Given the description of an element on the screen output the (x, y) to click on. 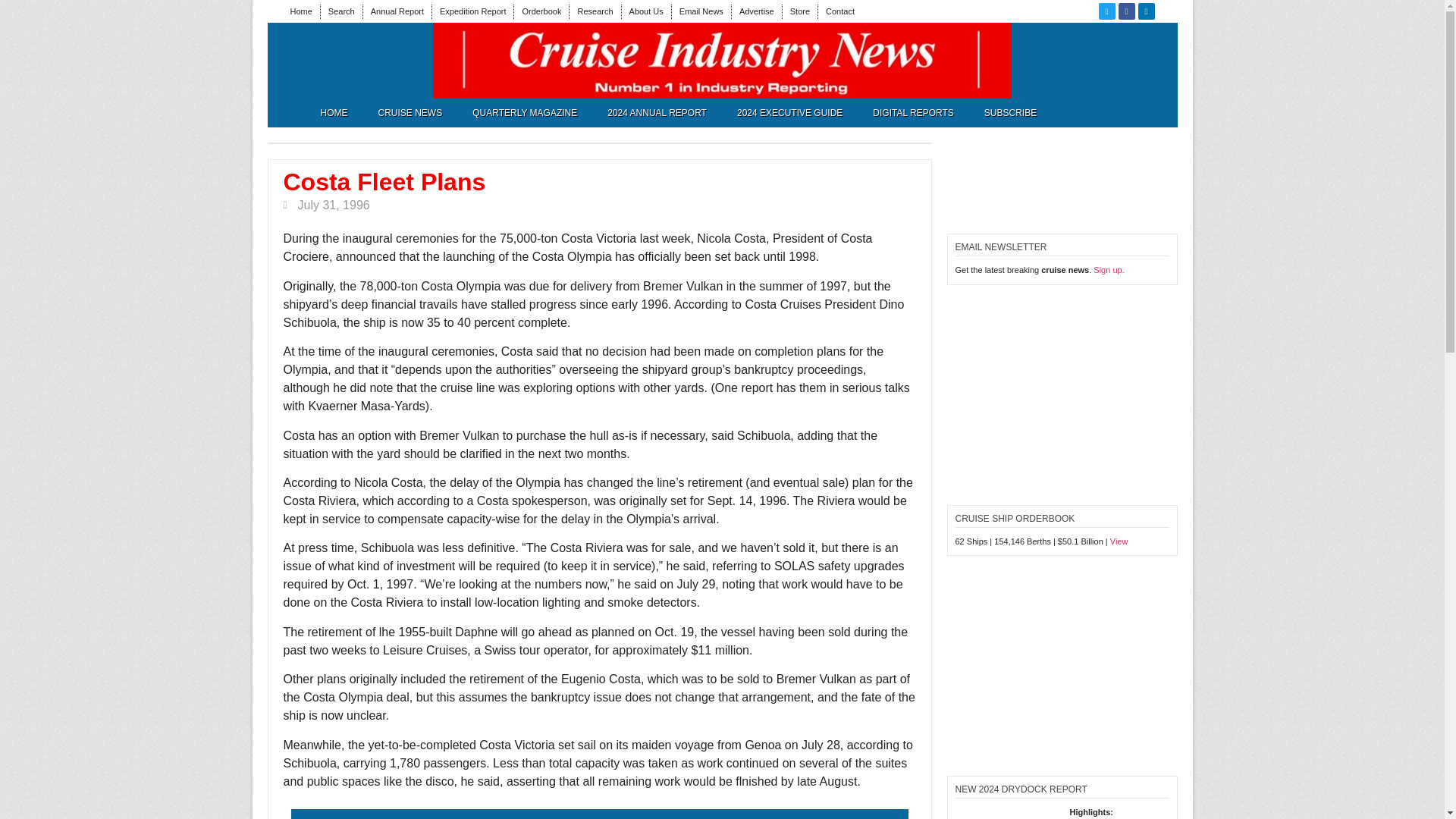
Research (594, 11)
Home (300, 11)
HOME (333, 112)
Store (799, 11)
CRUISE NEWS (409, 112)
Search (342, 11)
Email News (701, 11)
About Us (645, 11)
Advertise (756, 11)
Orderbook (540, 11)
